Given the description of an element on the screen output the (x, y) to click on. 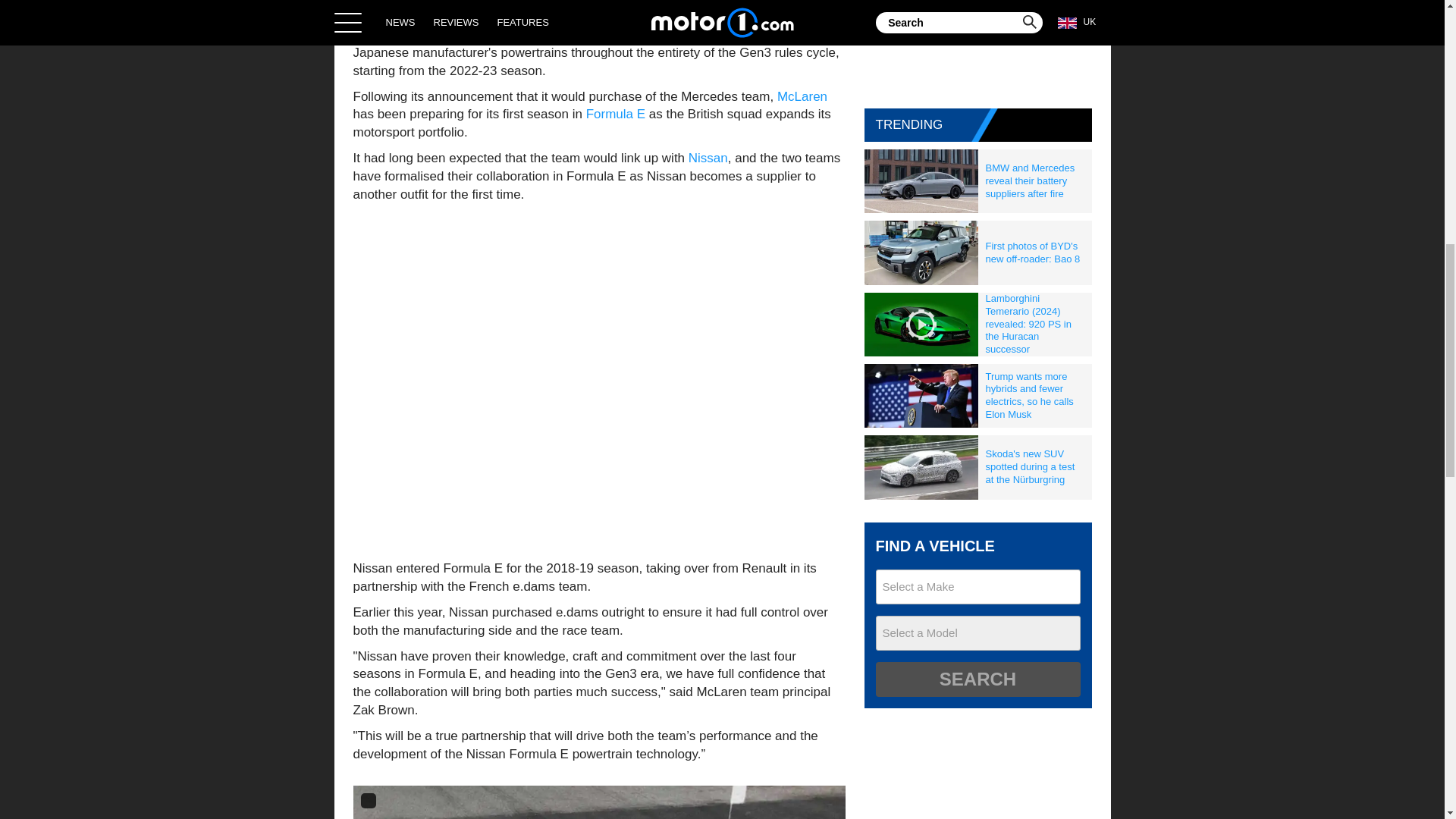
McLaren (802, 96)
Search (977, 678)
Nissan (708, 157)
Formula E (615, 114)
BMW and Mercedes reveal their battery suppliers after fire (1035, 181)
First photos of BYD's new off-roader: Bao 8 (1035, 253)
